Given the description of an element on the screen output the (x, y) to click on. 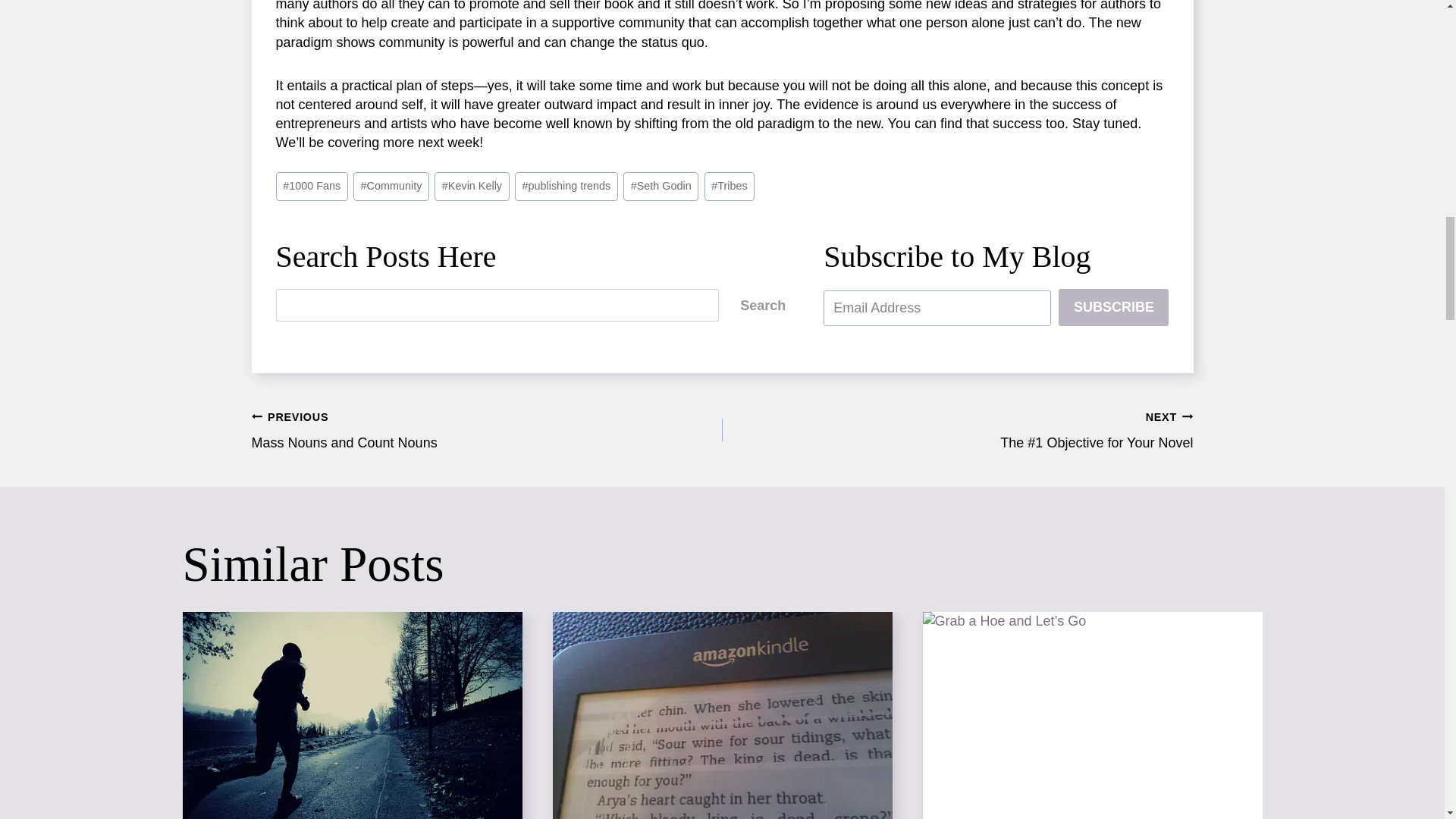
Seth Godin (660, 186)
SUBSCRIBE (1113, 307)
Community (391, 186)
Tribes (729, 186)
1000 Fans (311, 186)
Search (762, 305)
publishing trends (566, 186)
Kevin Kelly (470, 186)
